Given the description of an element on the screen output the (x, y) to click on. 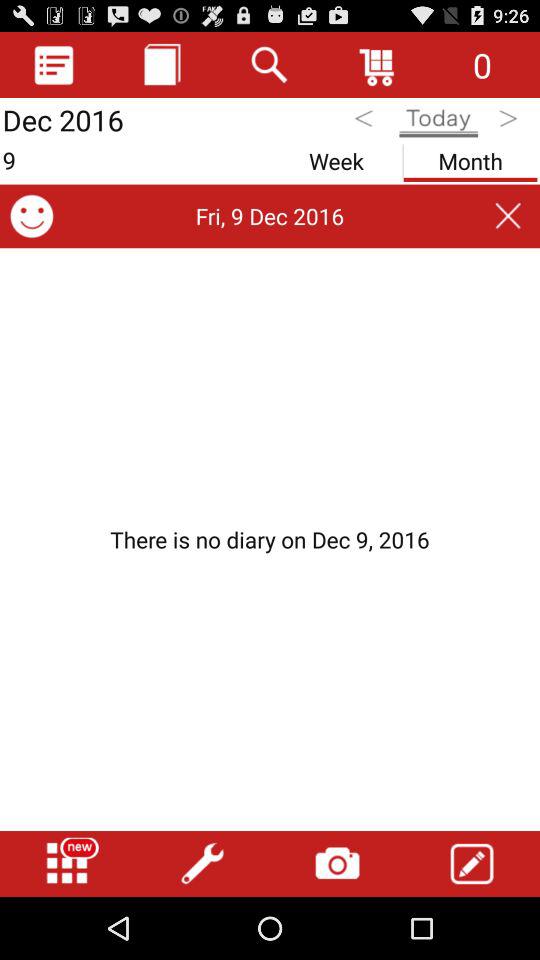
open the icon below 9 icon (31, 215)
